Given the description of an element on the screen output the (x, y) to click on. 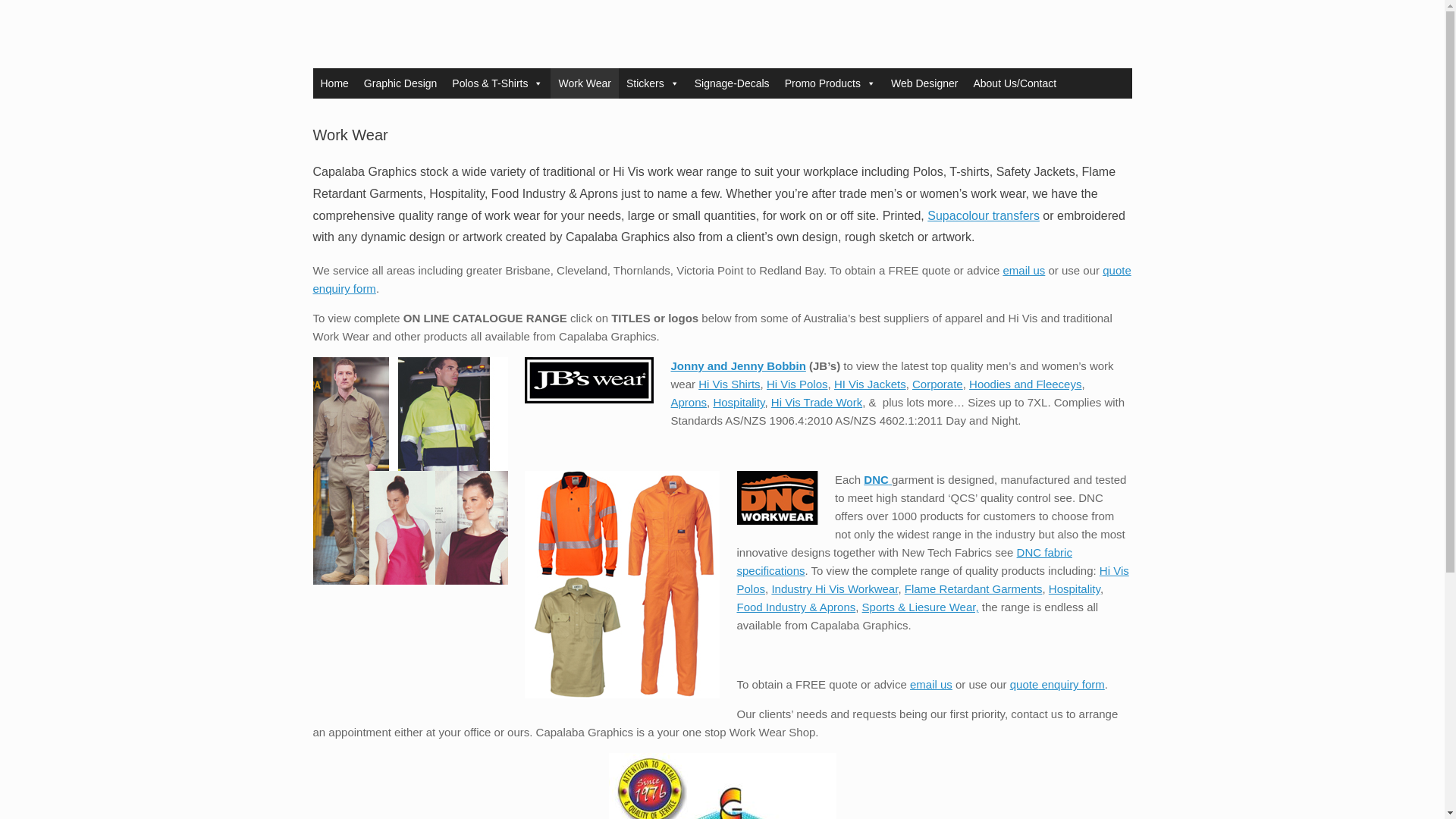
Work Wear (584, 82)
Supacolour transfers (983, 215)
Graphic Design (400, 82)
DNC fabric specifications (903, 561)
DNC (877, 479)
Hoodies and Fleeceys (1025, 383)
Promo Products (830, 82)
nquiry form (346, 287)
Hi Vis Shirts (729, 383)
Hi Vis Trade Work (816, 401)
Hi Vis Polos (797, 383)
Signage-Decals (732, 82)
Stickers (652, 82)
Aprons (687, 401)
Jonny and Jenny Bobbin (737, 365)
